Given the description of an element on the screen output the (x, y) to click on. 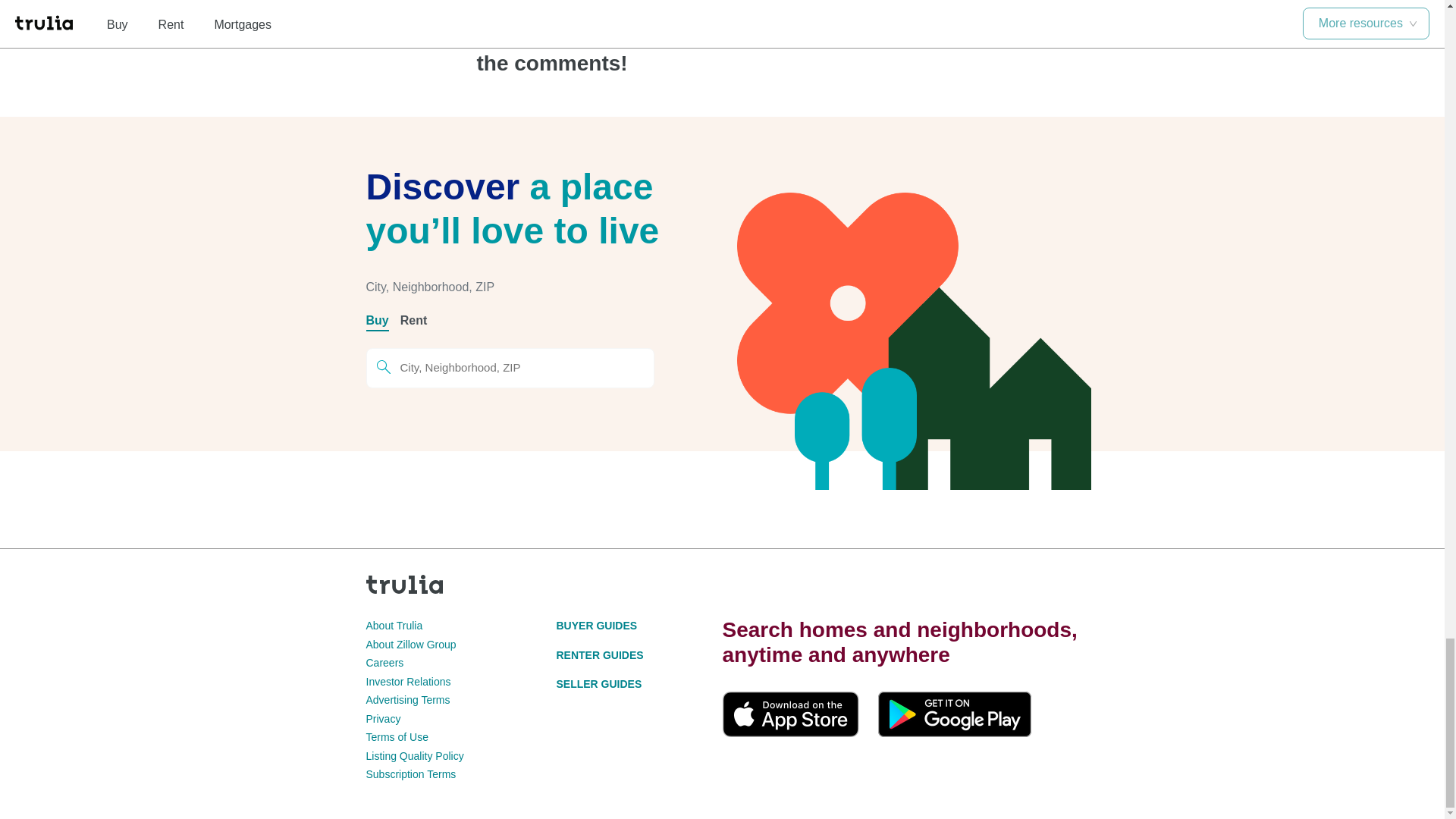
Subscription Terms (410, 774)
Download Android App (953, 714)
Privacy (382, 718)
Advertising Terms (407, 699)
Terms of Use (396, 736)
SELLER GUIDES (599, 684)
About Trulia (393, 625)
RENTER GUIDES (599, 654)
Investor Relations (407, 681)
Careers (384, 662)
